Given the description of an element on the screen output the (x, y) to click on. 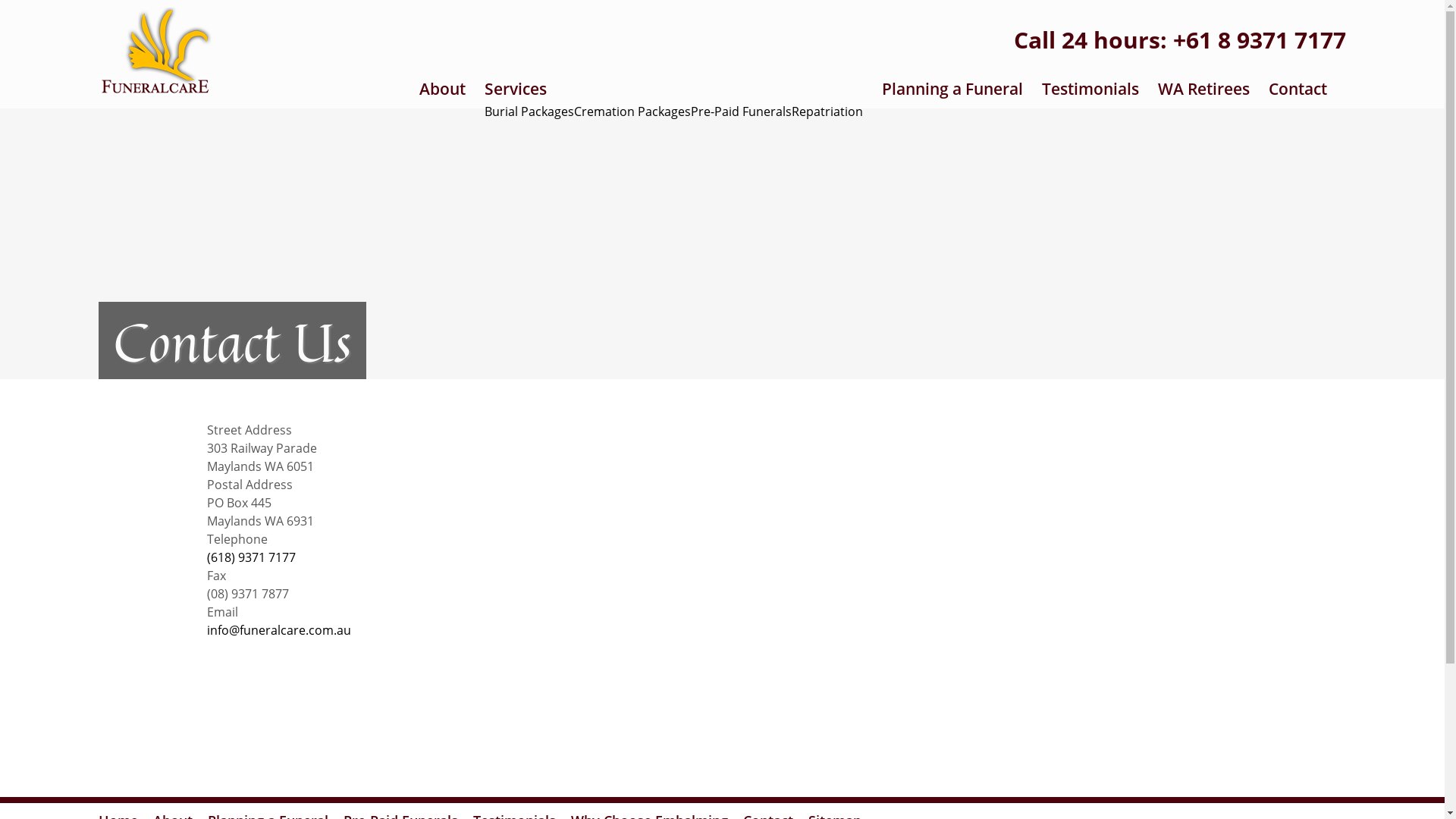
info@funeralcare.com.au Element type: text (278, 629)
Services Element type: text (673, 88)
About Element type: text (442, 88)
(618) 9371 7177 Element type: text (250, 557)
Contact Element type: text (1297, 88)
WA Retirees Element type: text (1203, 88)
+61 8 9371 7177 Element type: text (1259, 39)
Testimonials Element type: text (1090, 88)
Pre-Paid Funerals Element type: text (740, 111)
Repatriation Element type: text (826, 111)
Burial Packages Element type: text (529, 111)
Cremation Packages Element type: text (632, 111)
Planning a Funeral Element type: text (951, 88)
